Given the description of an element on the screen output the (x, y) to click on. 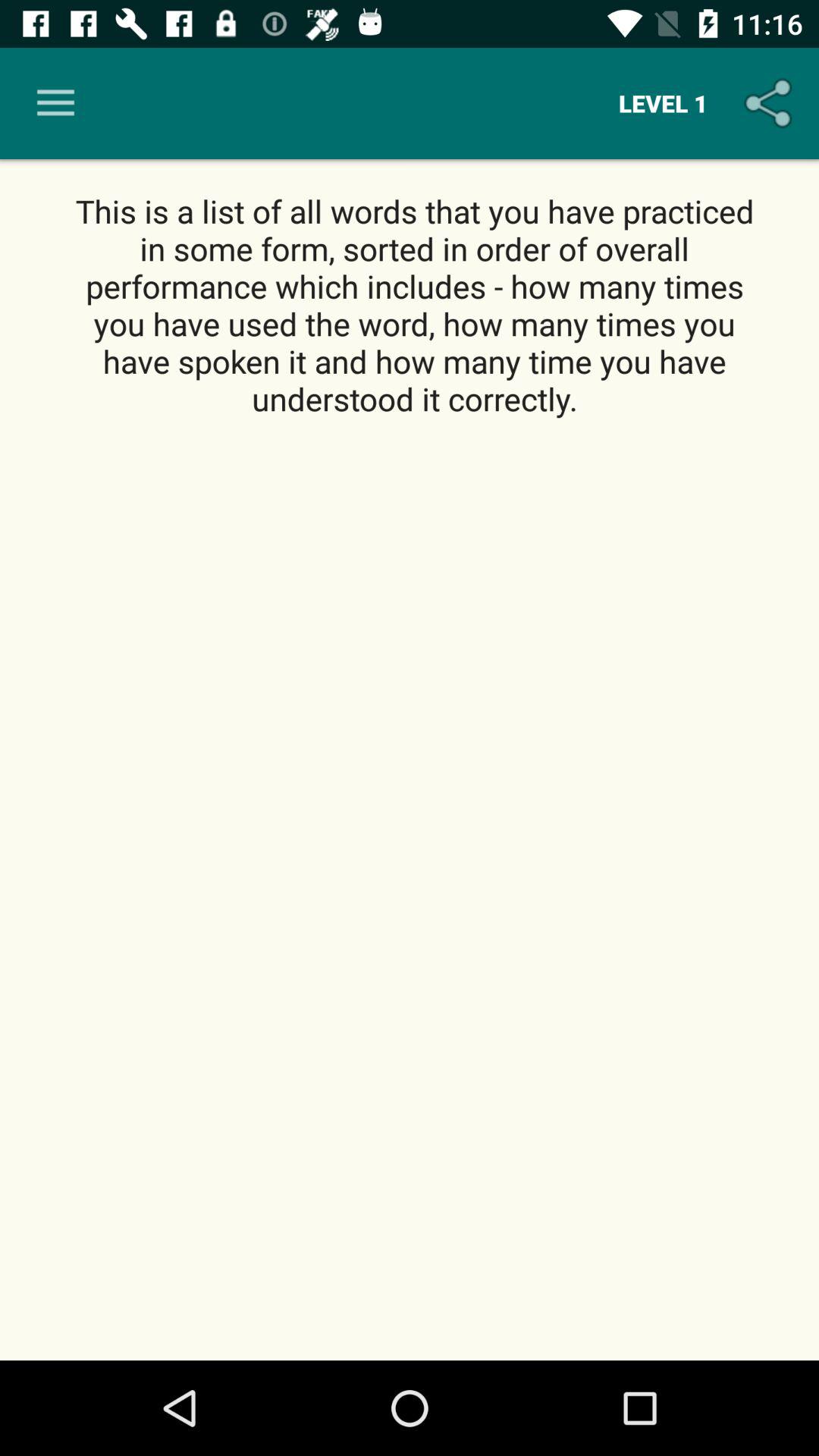
turn on item above the this is a (662, 103)
